Given the description of an element on the screen output the (x, y) to click on. 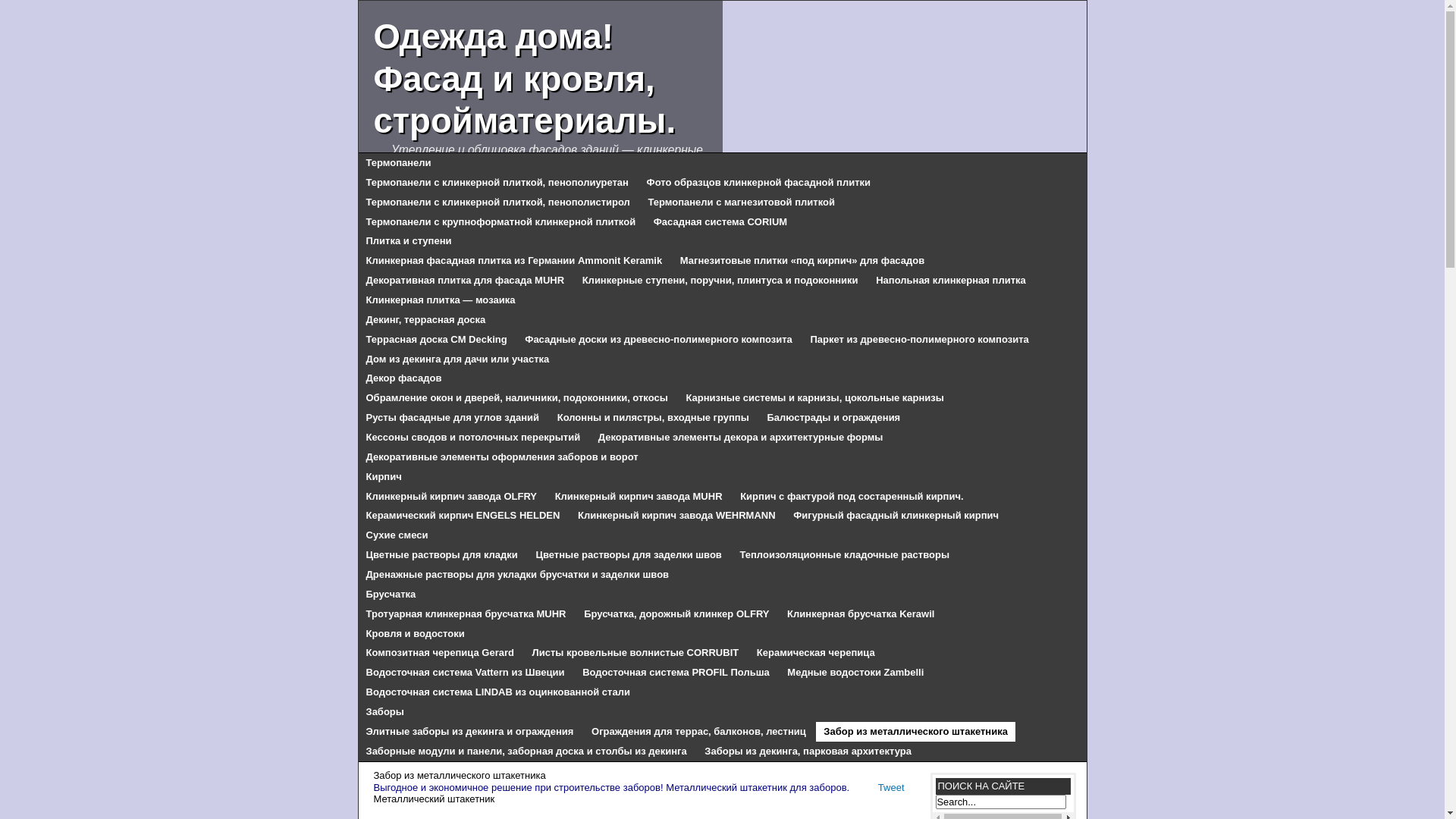
Tweet Element type: text (891, 786)
Top Element type: text (1408, 782)
